Given the description of an element on the screen output the (x, y) to click on. 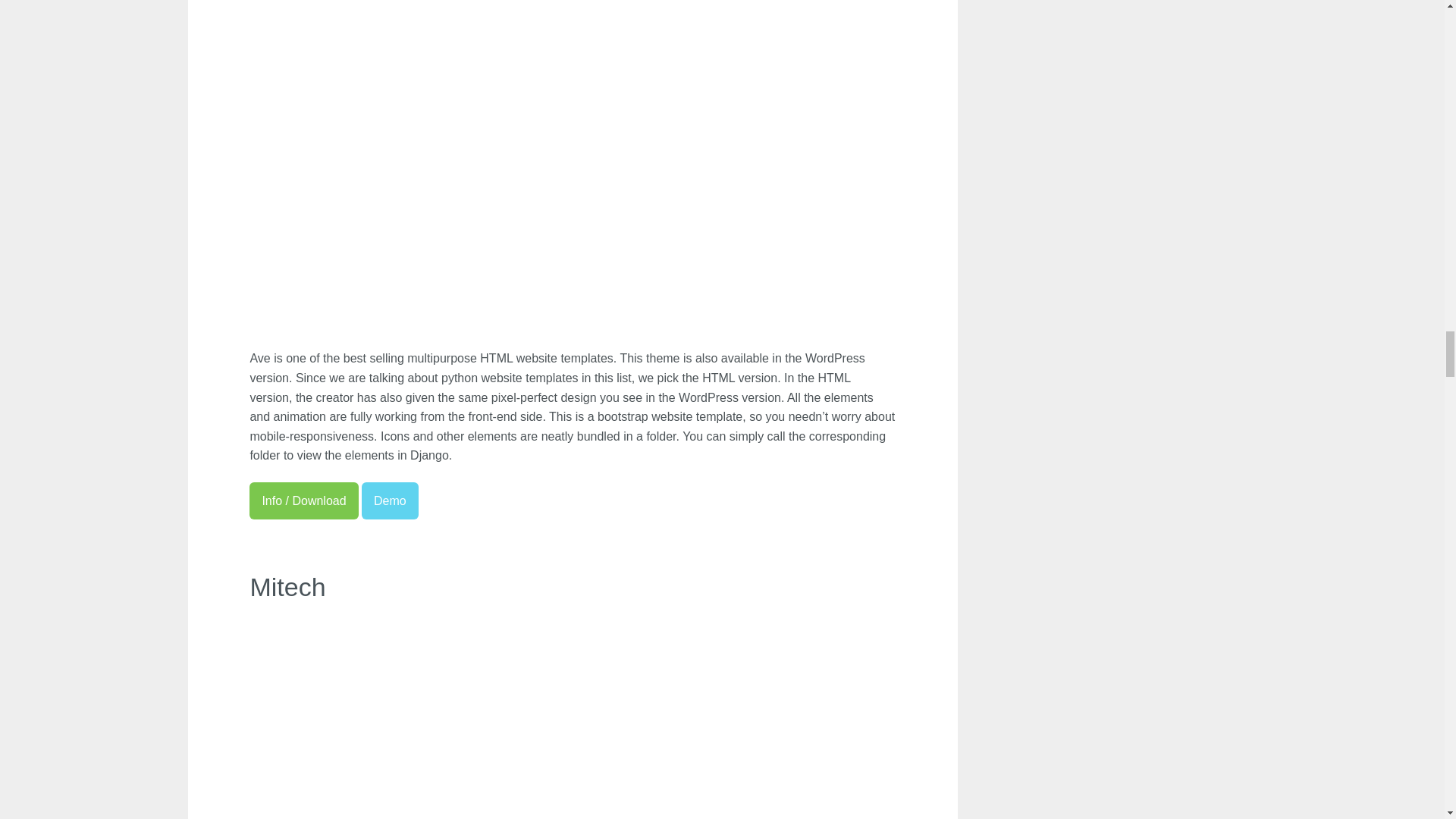
Demo (390, 500)
